Given the description of an element on the screen output the (x, y) to click on. 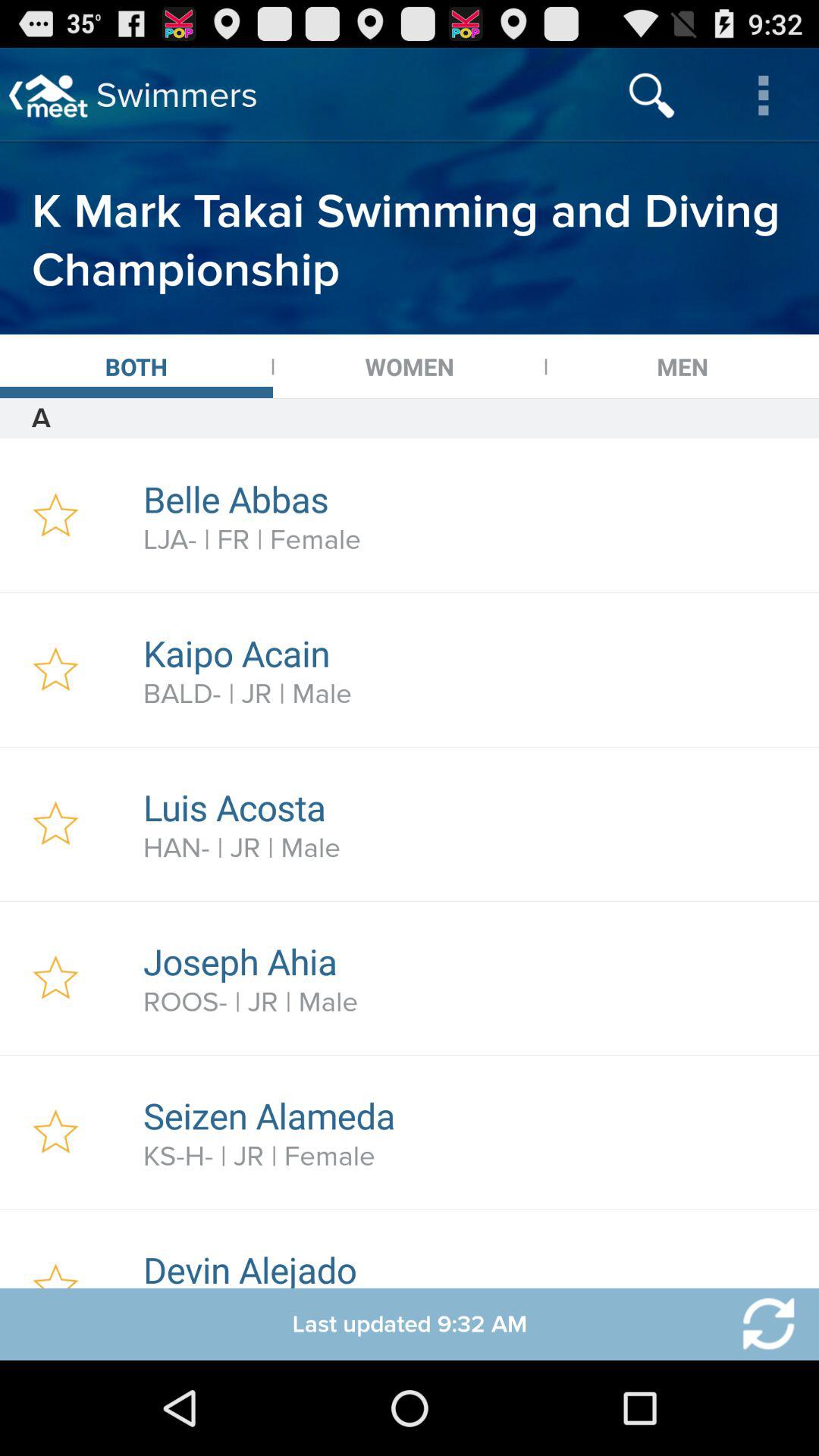
tap item above a icon (682, 366)
